Given the description of an element on the screen output the (x, y) to click on. 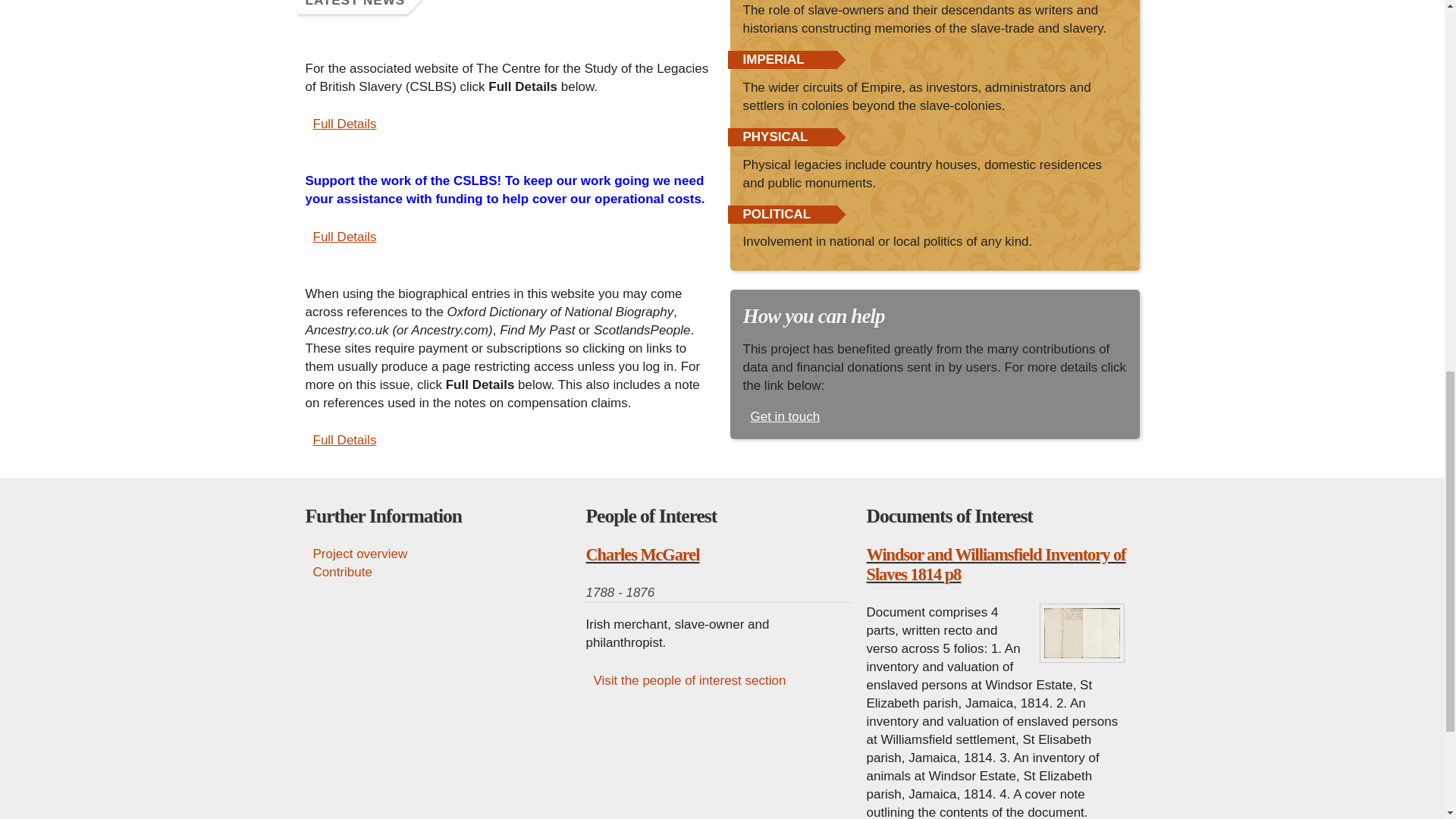
Full Details (339, 124)
Full Details (339, 237)
Full Details (339, 440)
